Given the description of an element on the screen output the (x, y) to click on. 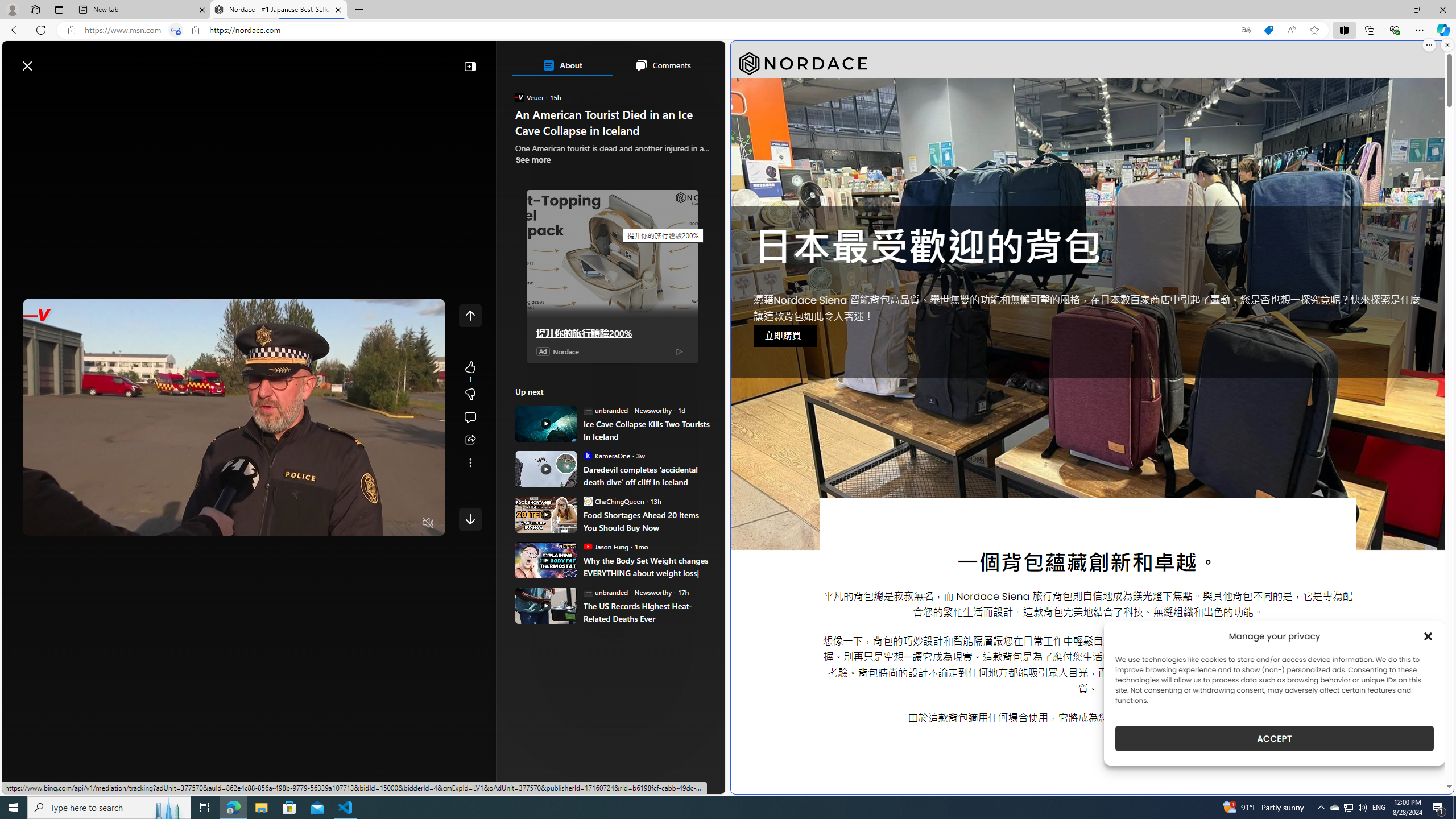
Food Shortages Ahead 20 Items You Should Buy Now (545, 514)
Food Shortages Ahead 20 Items You Should Buy Now (646, 520)
Following (98, 92)
Notifications (676, 60)
Feedback (681, 784)
Discover (47, 92)
Jason Fung (587, 546)
Share this story (469, 440)
ChaChingQueen (587, 500)
Open Copilot (565, 59)
KameraOne (587, 455)
Nordace (803, 63)
